Given the description of an element on the screen output the (x, y) to click on. 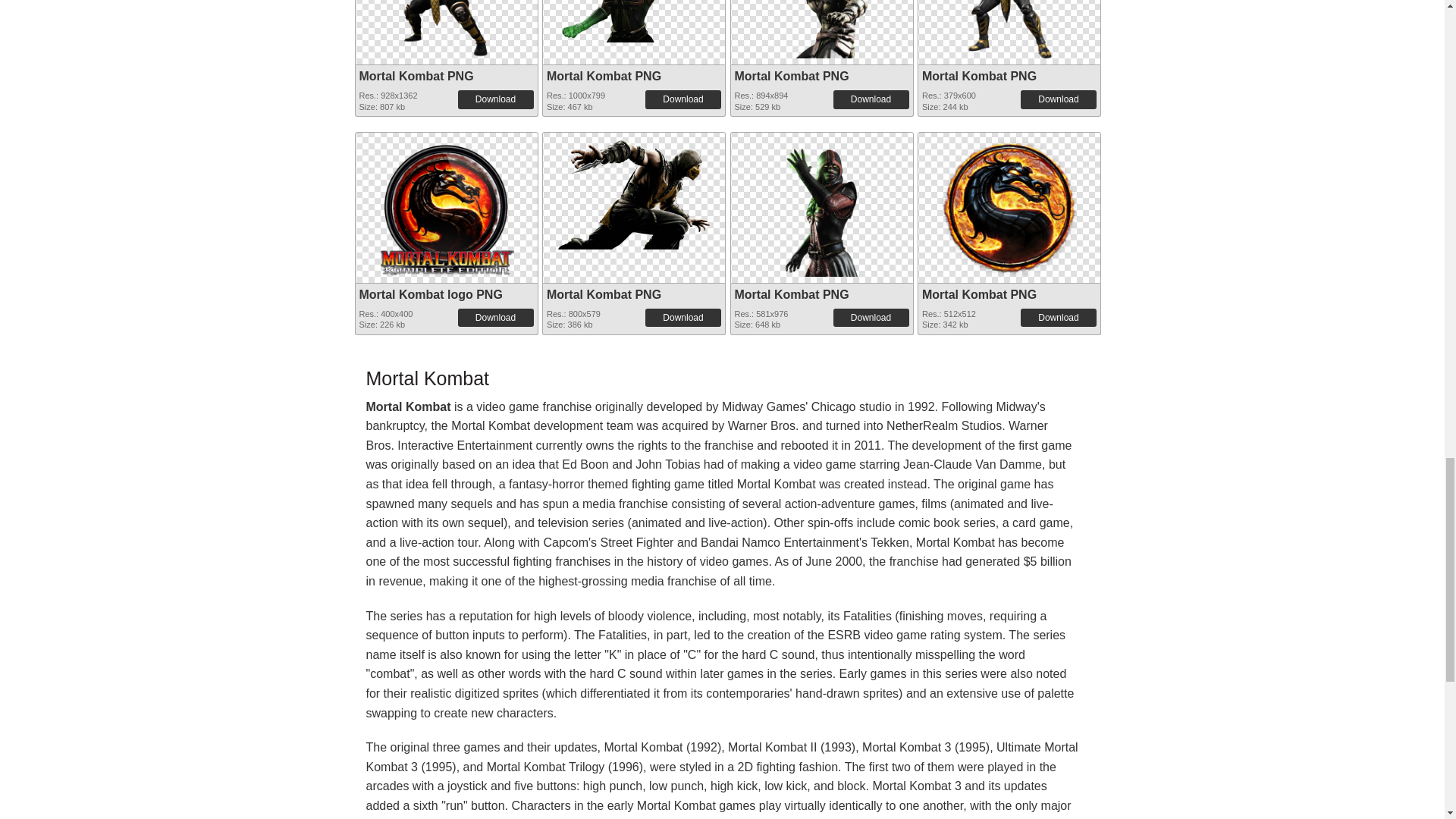
Download (682, 99)
Mortal Kombat PNG (633, 21)
Mortal Kombat PNG (416, 75)
Download (1058, 99)
Mortal Kombat PNG (821, 29)
Download (870, 99)
Download (496, 99)
Mortal Kombat PNG (790, 75)
Mortal Kombat PNG (445, 29)
Mortal Kombat PNG (604, 75)
Mortal Kombat PNG (978, 75)
